Given the description of an element on the screen output the (x, y) to click on. 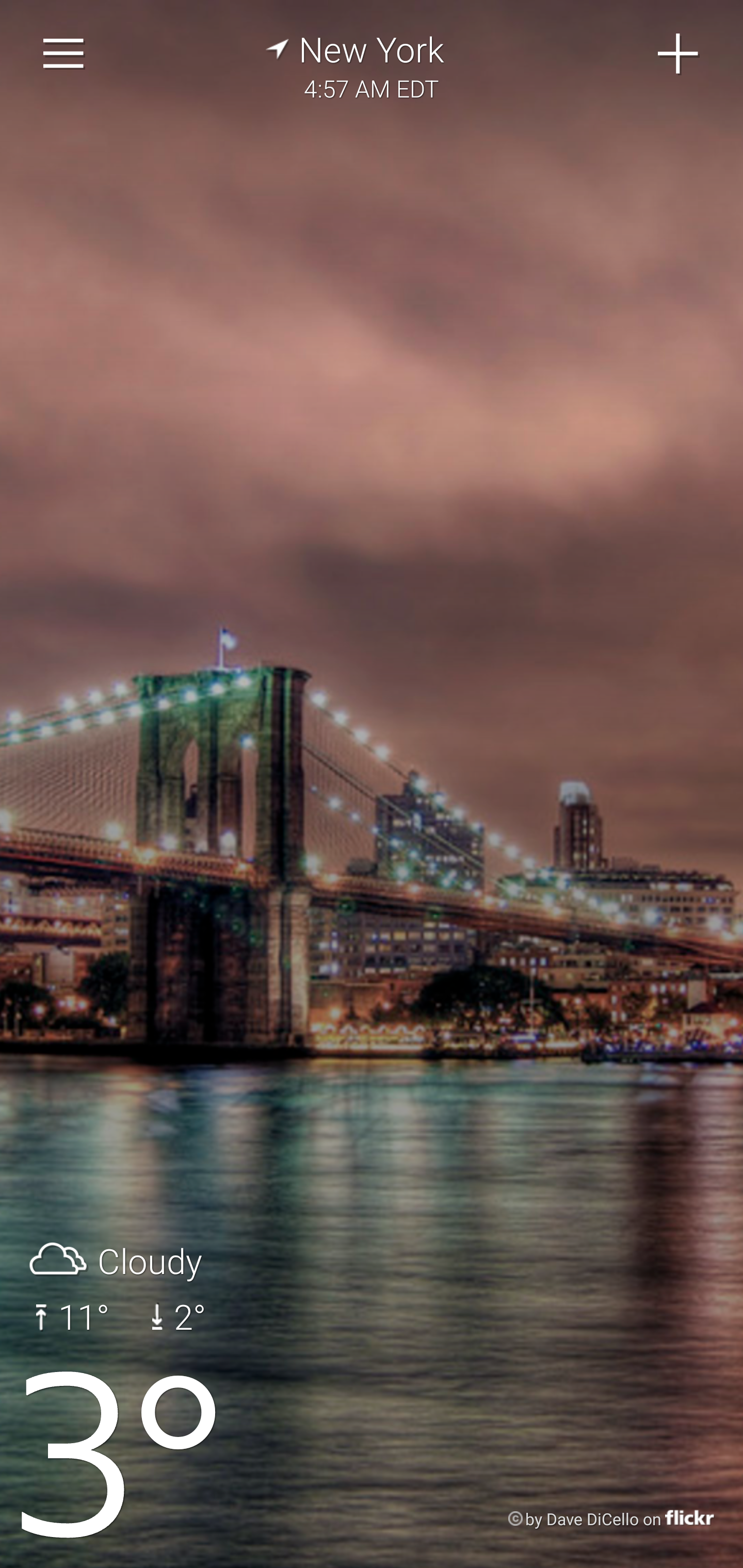
Sidebar (64, 54)
Add City (678, 53)
